Given the description of an element on the screen output the (x, y) to click on. 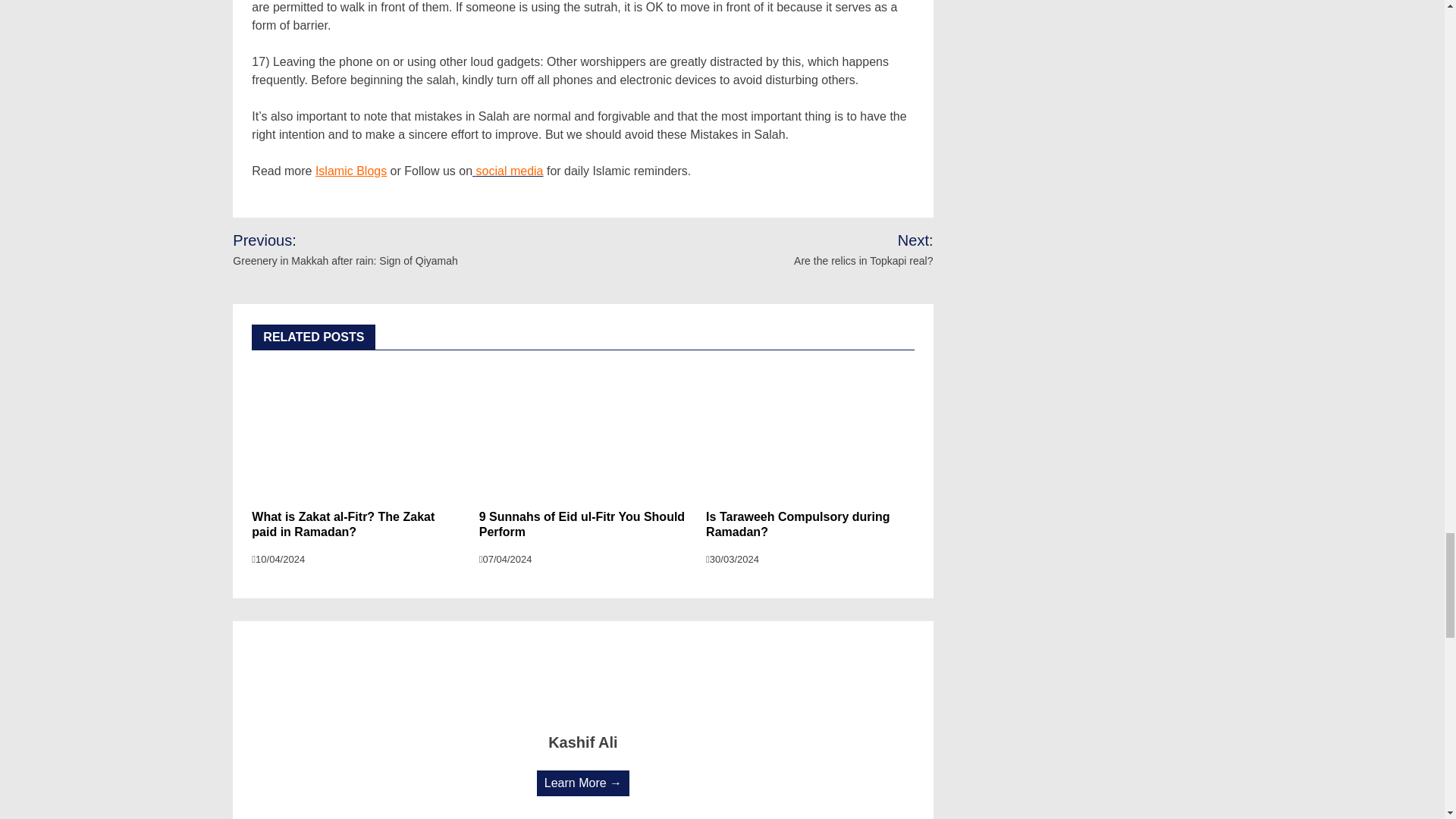
Previous: Greenery in Makkah after rain: Sign of Qiyamah (378, 249)
Next: Are the relics in Topkapi real? (844, 249)
What is Zakat al-Fitr? The Zakat paid in Ramadan? (342, 524)
9 Sunnahs of Eid ul-Fitr You Should Perform (581, 524)
Islamic Blogs (351, 170)
 social media (507, 170)
